Given the description of an element on the screen output the (x, y) to click on. 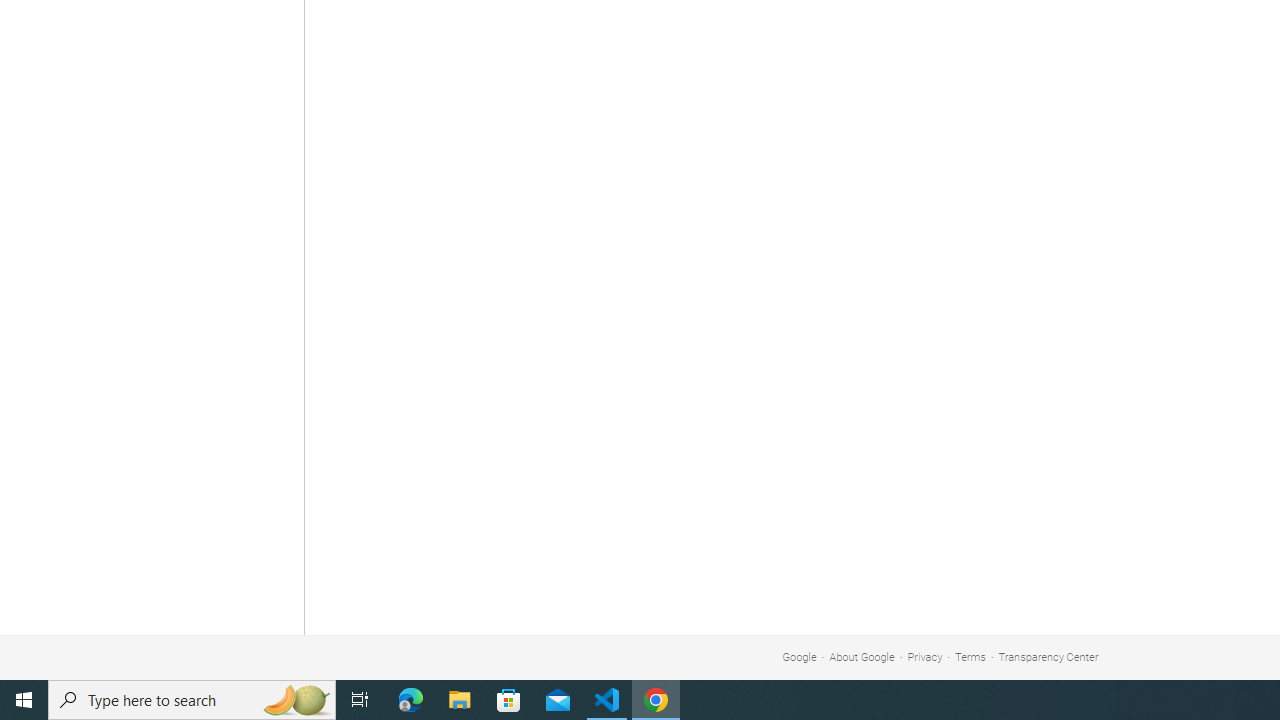
About Google (861, 656)
Google (799, 656)
Terms (969, 656)
Transparency Center (1048, 656)
Privacy (925, 656)
